Given the description of an element on the screen output the (x, y) to click on. 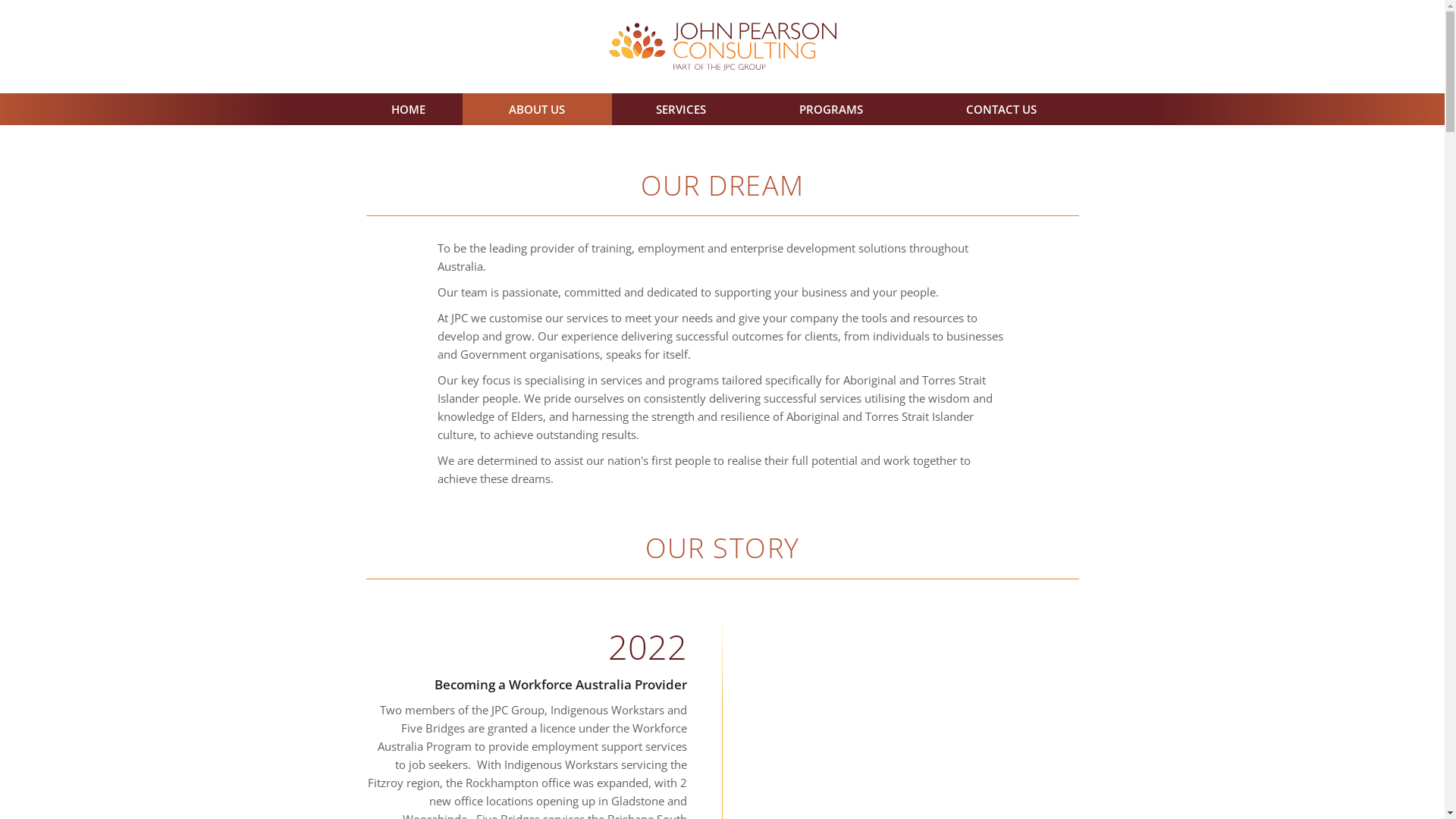
HOME Element type: text (408, 109)
Home Element type: hover (721, 46)
PROGRAMS Element type: text (831, 109)
ABOUT US Element type: text (536, 109)
SERVICES Element type: text (680, 109)
Skip to main content Element type: text (0, 0)
CONTACT US Element type: text (1001, 109)
